Given the description of an element on the screen output the (x, y) to click on. 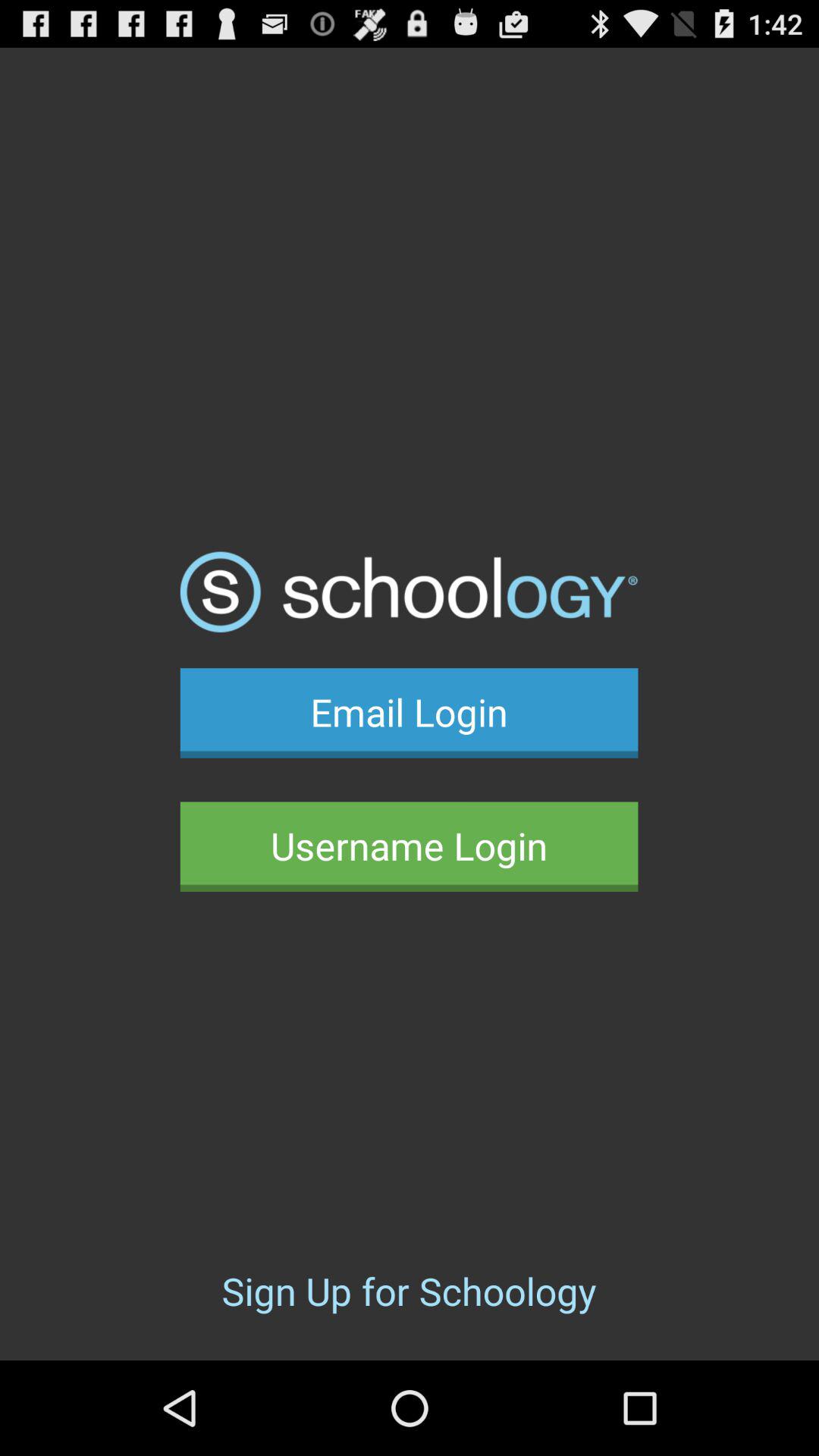
tap sign up for at the bottom (408, 1290)
